Given the description of an element on the screen output the (x, y) to click on. 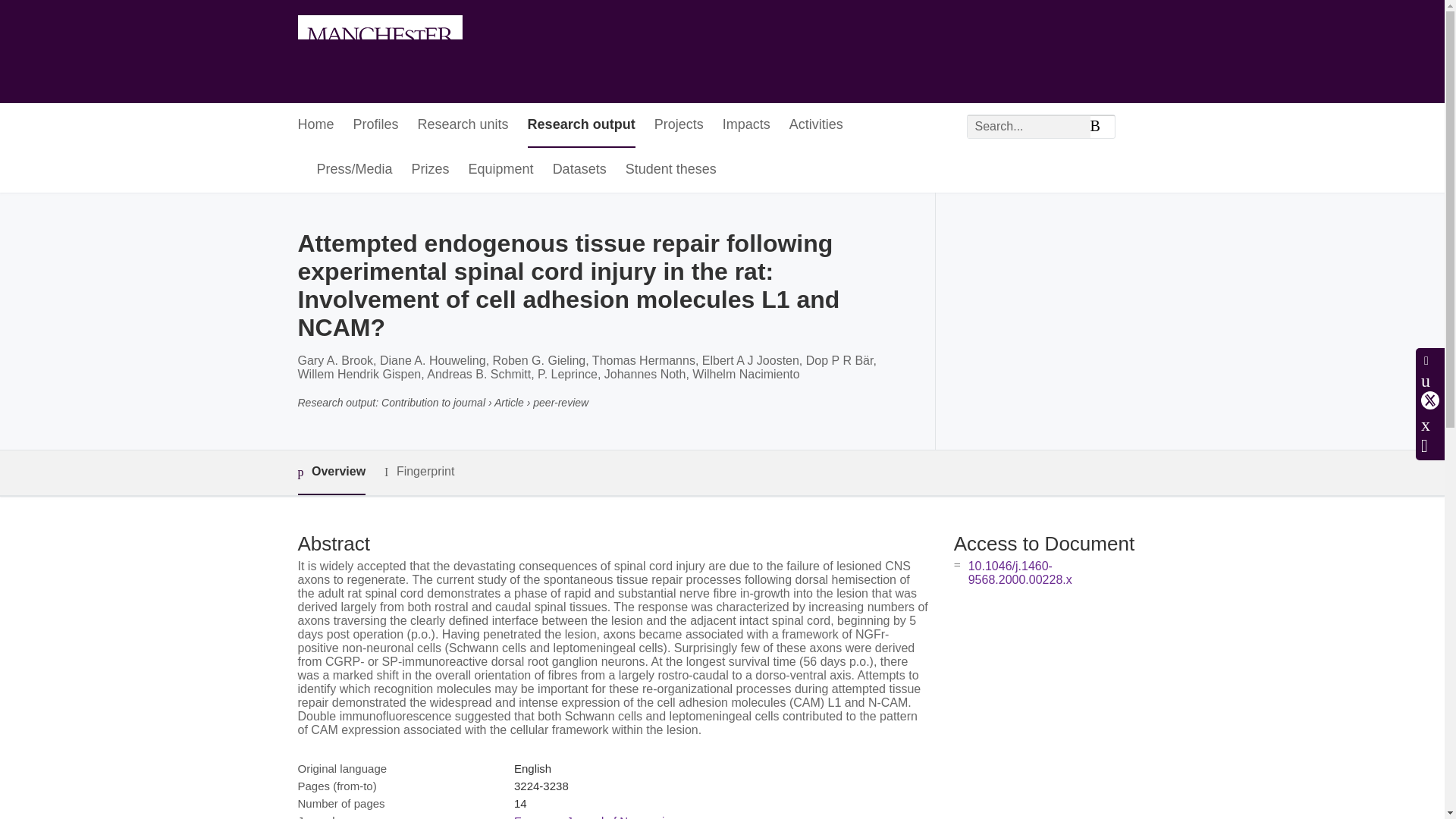
Impacts (746, 125)
Fingerprint (419, 471)
Projects (678, 125)
Research output (580, 125)
Datasets (580, 170)
Equipment (501, 170)
Research units (462, 125)
European Journal of Neuroscience (600, 816)
Research Explorer The University of Manchester Home (379, 51)
